Given the description of an element on the screen output the (x, y) to click on. 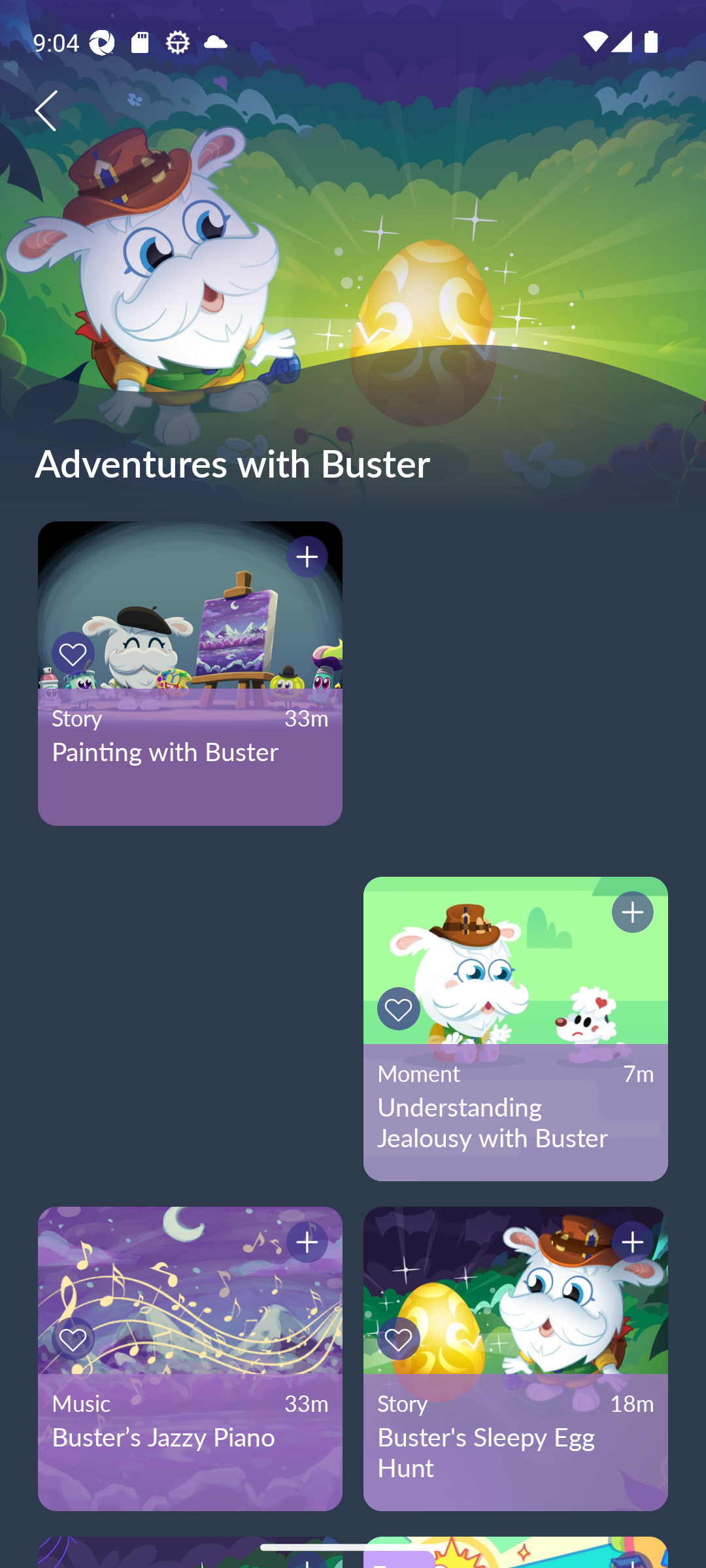
Button (304, 558)
Button (76, 652)
Button (629, 914)
Button (401, 1008)
Button (304, 1244)
Button (629, 1244)
Button (76, 1338)
Button (401, 1338)
